Given the description of an element on the screen output the (x, y) to click on. 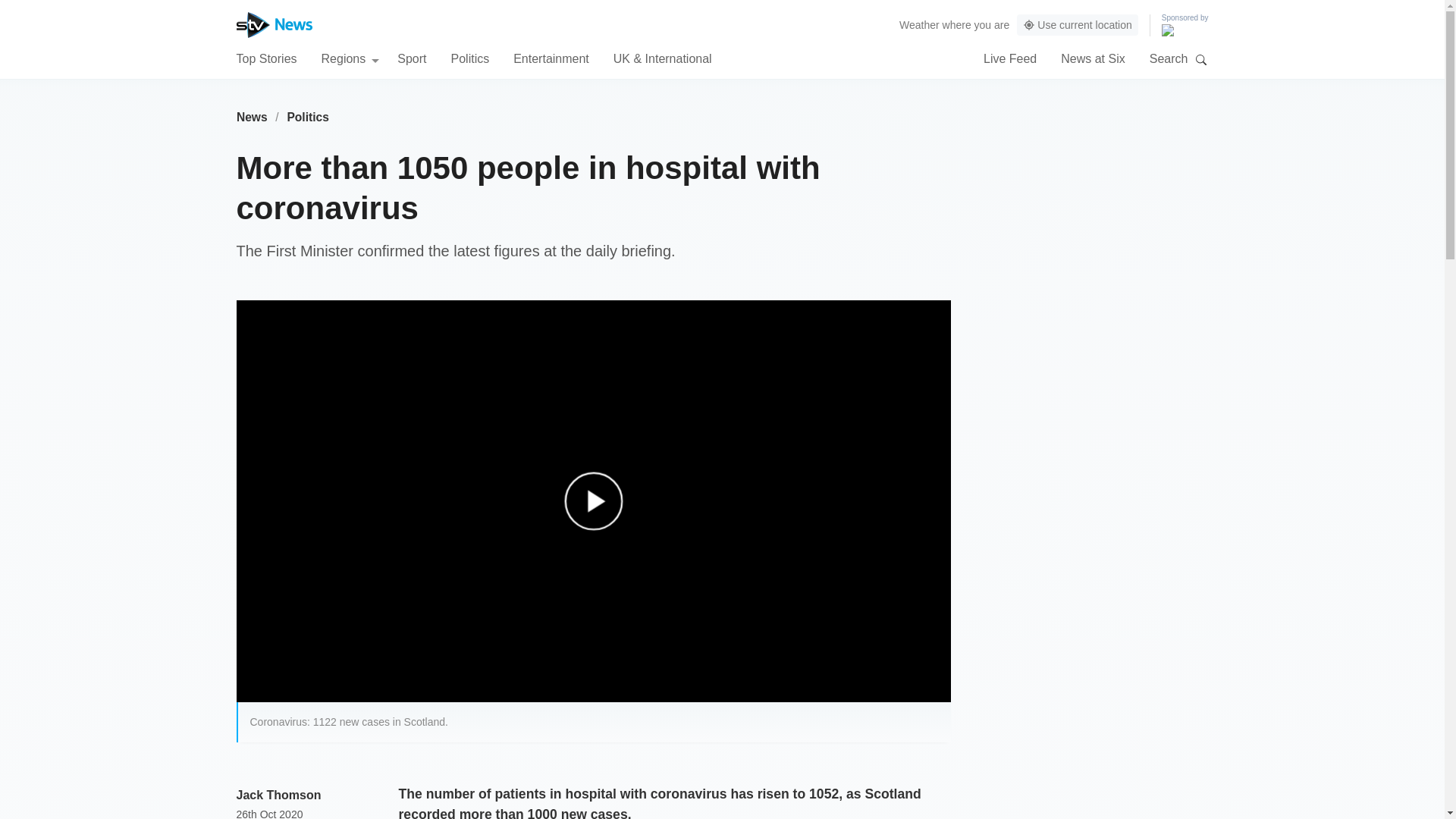
Weather (919, 24)
Politics (469, 57)
Entertainment (551, 57)
Search (1201, 59)
Use current location (1077, 25)
Play Video (600, 507)
Politics (307, 116)
Live Feed (1010, 57)
Top Stories (266, 57)
Regions (350, 57)
